Given the description of an element on the screen output the (x, y) to click on. 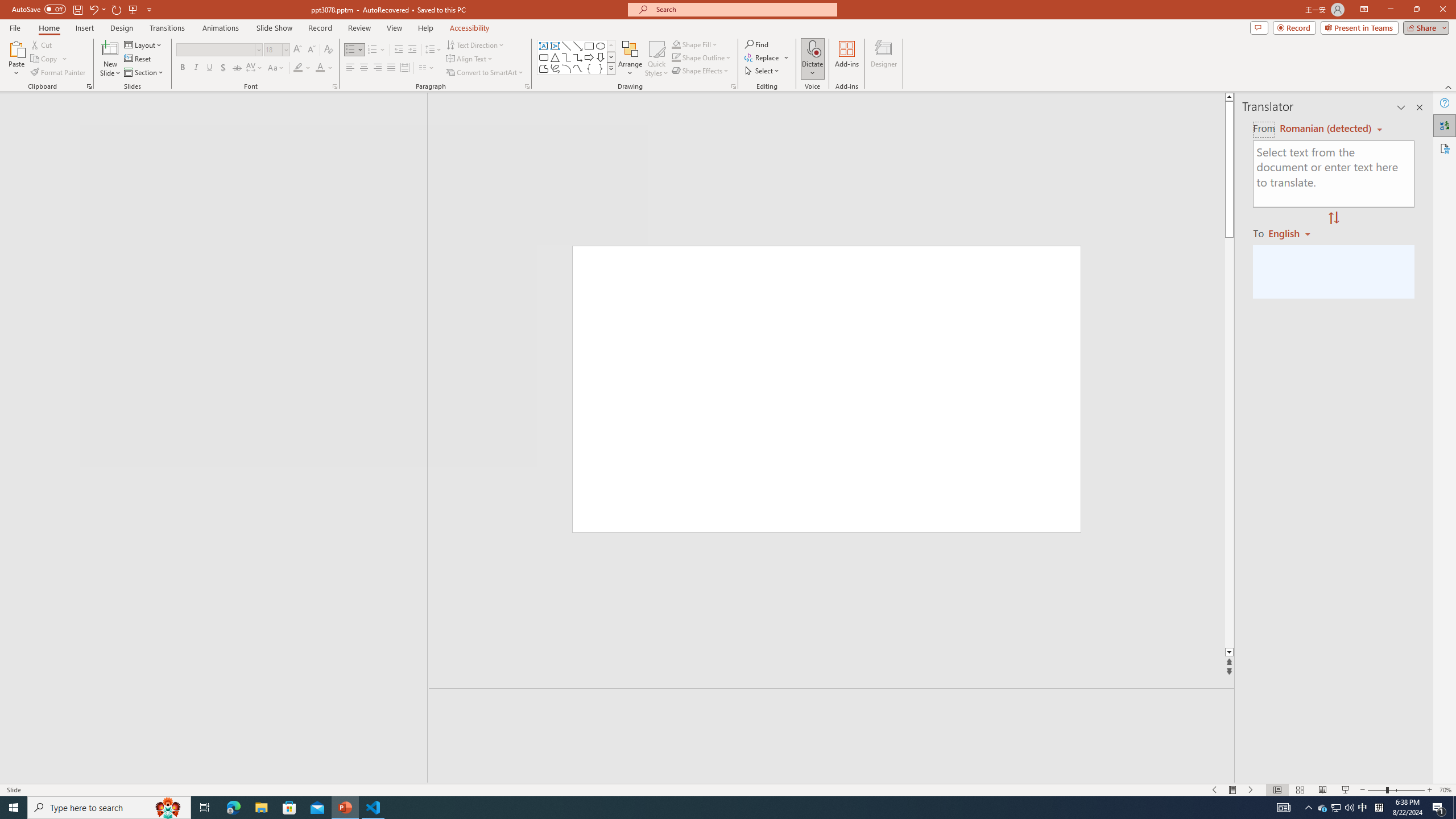
Romanian (detected) (1323, 128)
